Given the description of an element on the screen output the (x, y) to click on. 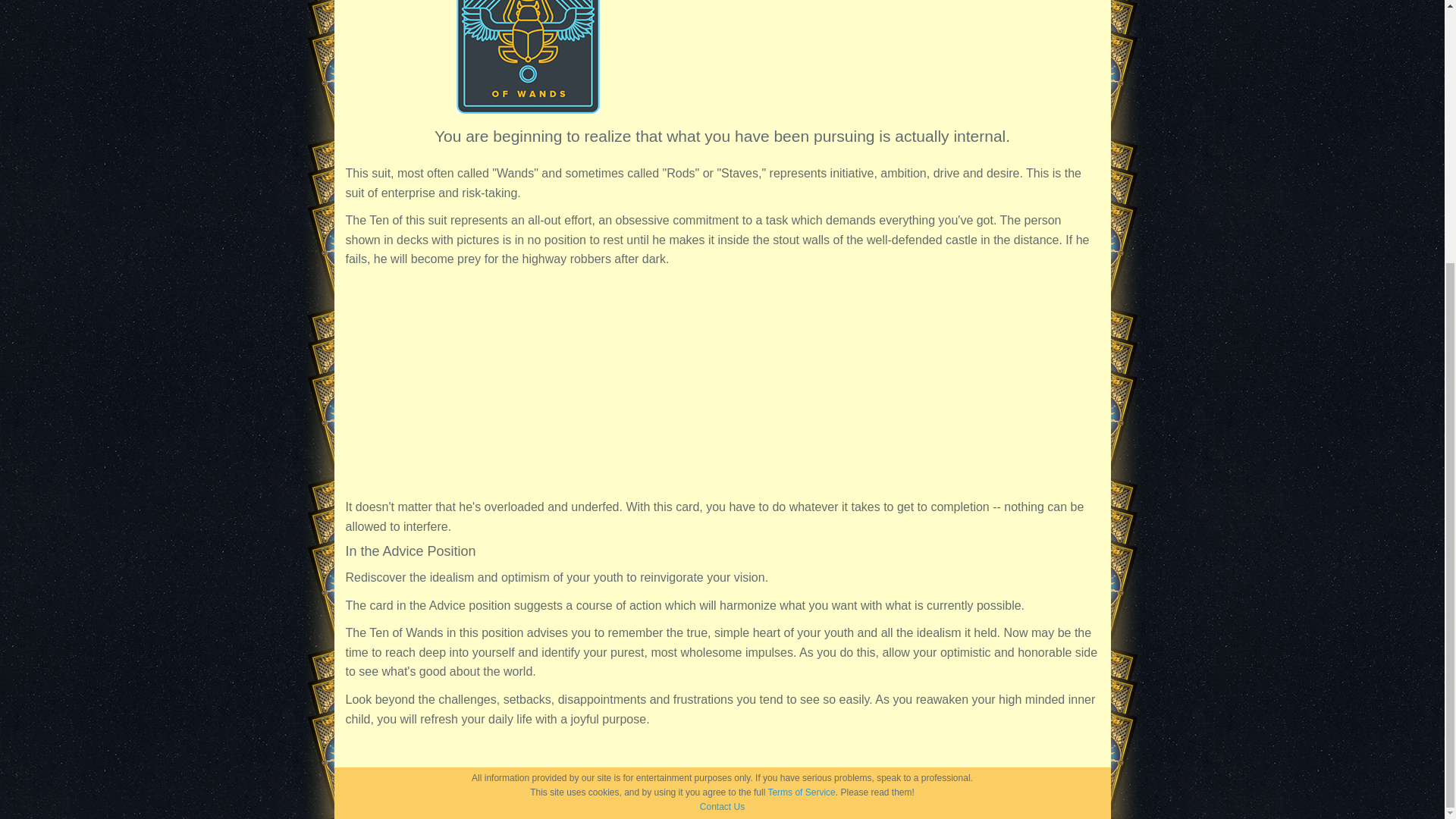
Terms of Service (800, 792)
Advertisement (884, 40)
Contact Us (722, 806)
